Given the description of an element on the screen output the (x, y) to click on. 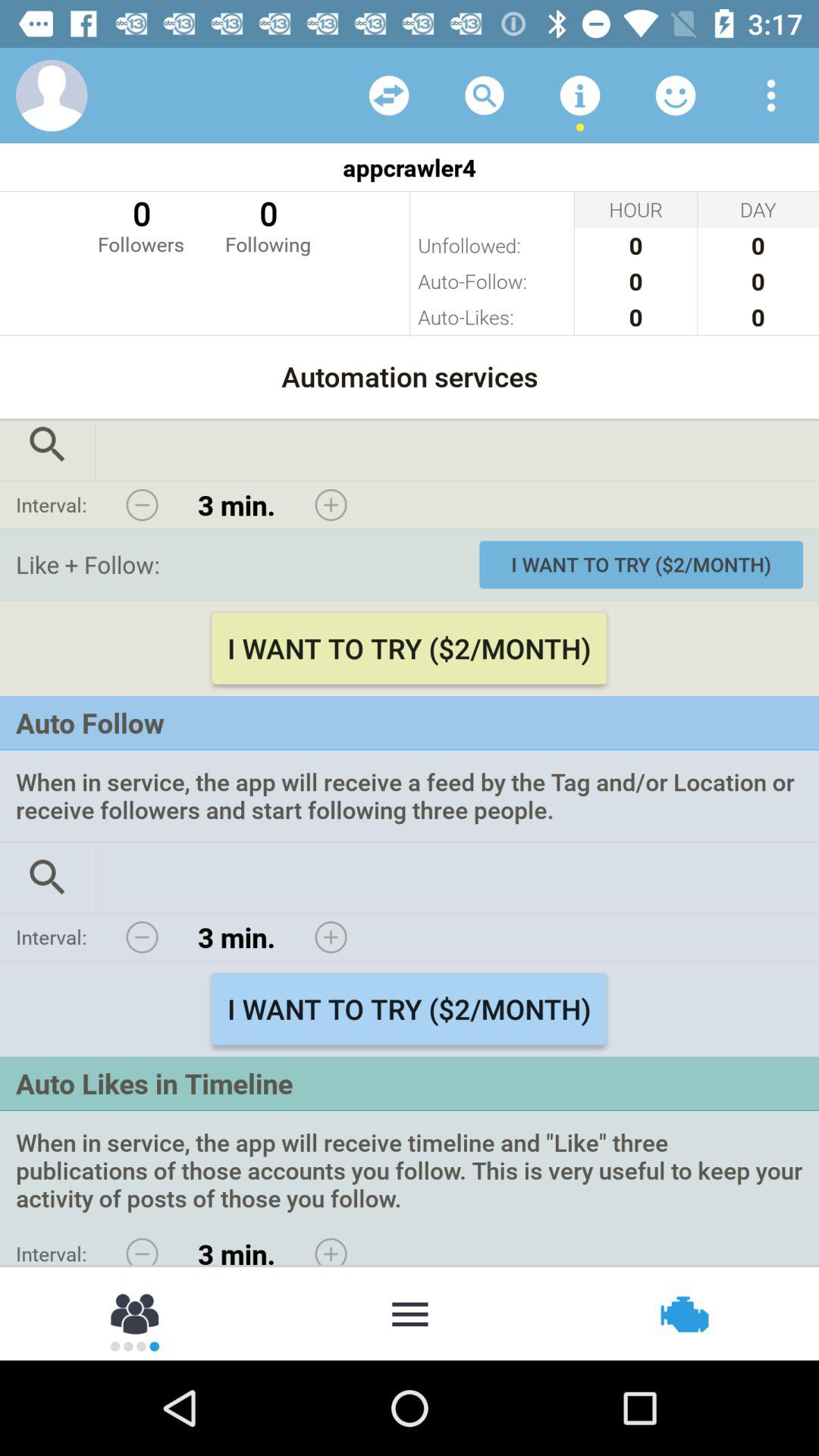
decrease time (142, 504)
